Given the description of an element on the screen output the (x, y) to click on. 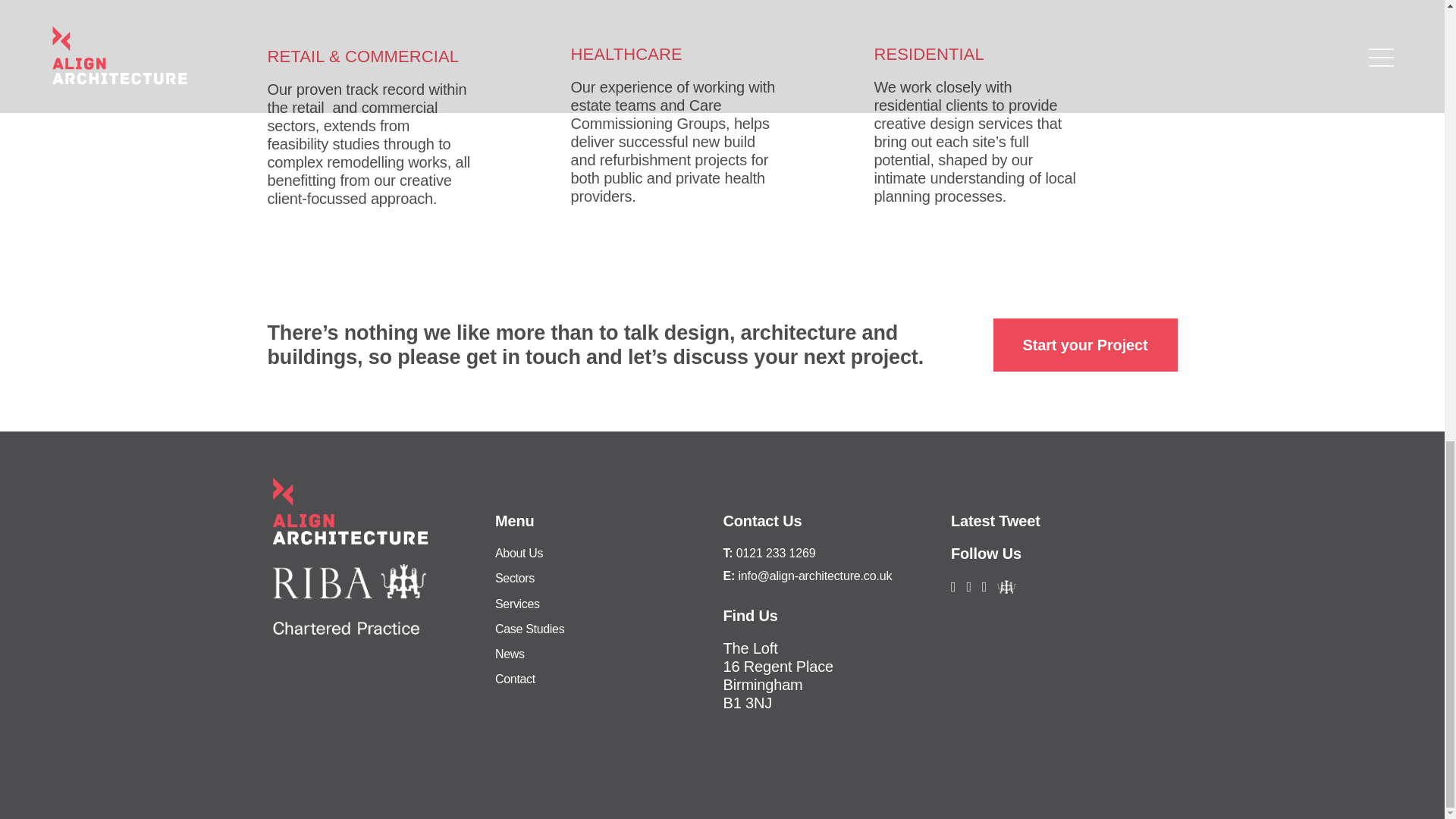
Contact (515, 678)
0121 233 1269 (775, 553)
Services (517, 603)
Case Studies (529, 628)
About Us (519, 553)
News (509, 653)
Start your Project (1084, 344)
Sectors (514, 577)
